Given the description of an element on the screen output the (x, y) to click on. 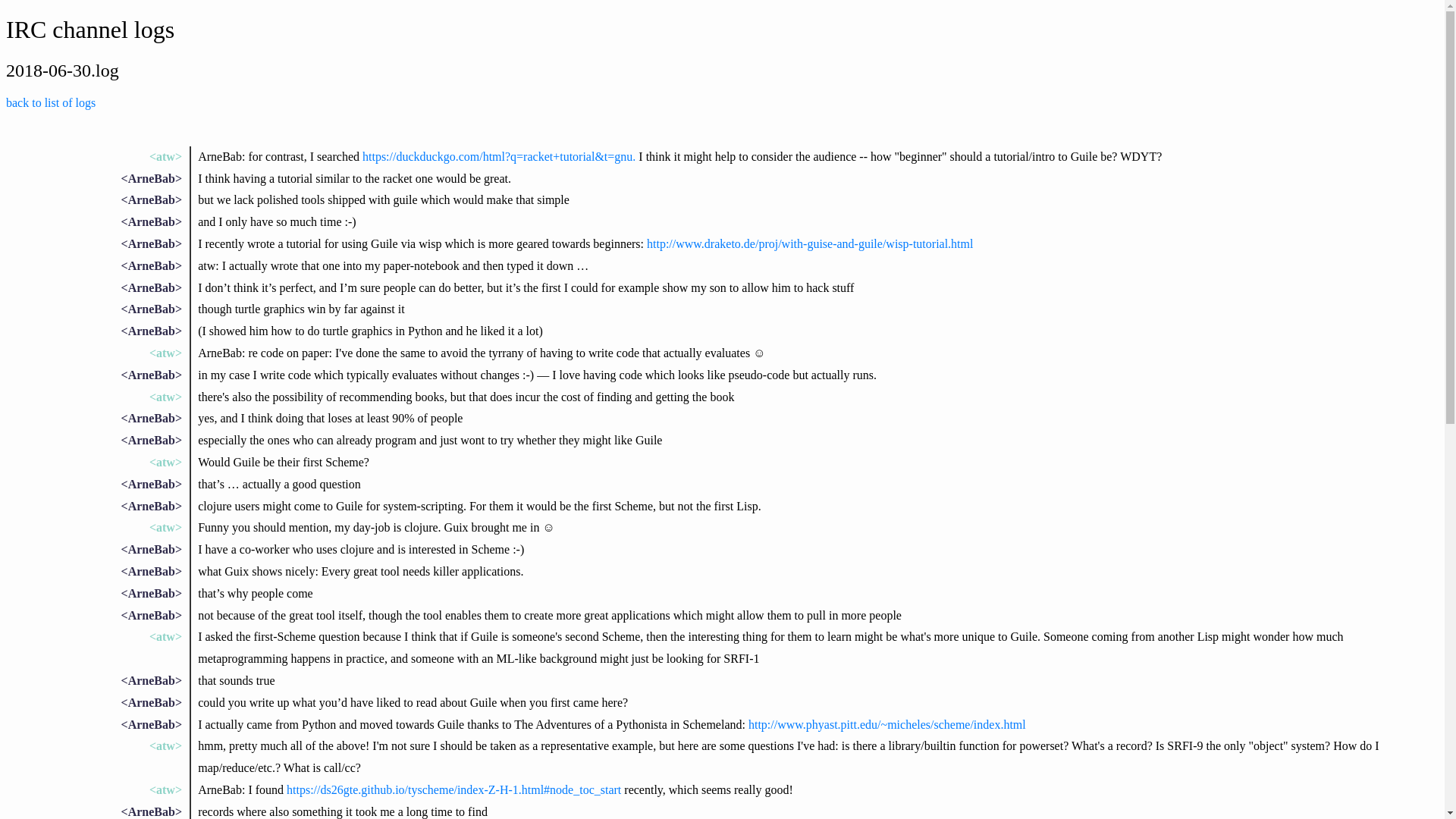
back to list of logs (50, 102)
